Given the description of an element on the screen output the (x, y) to click on. 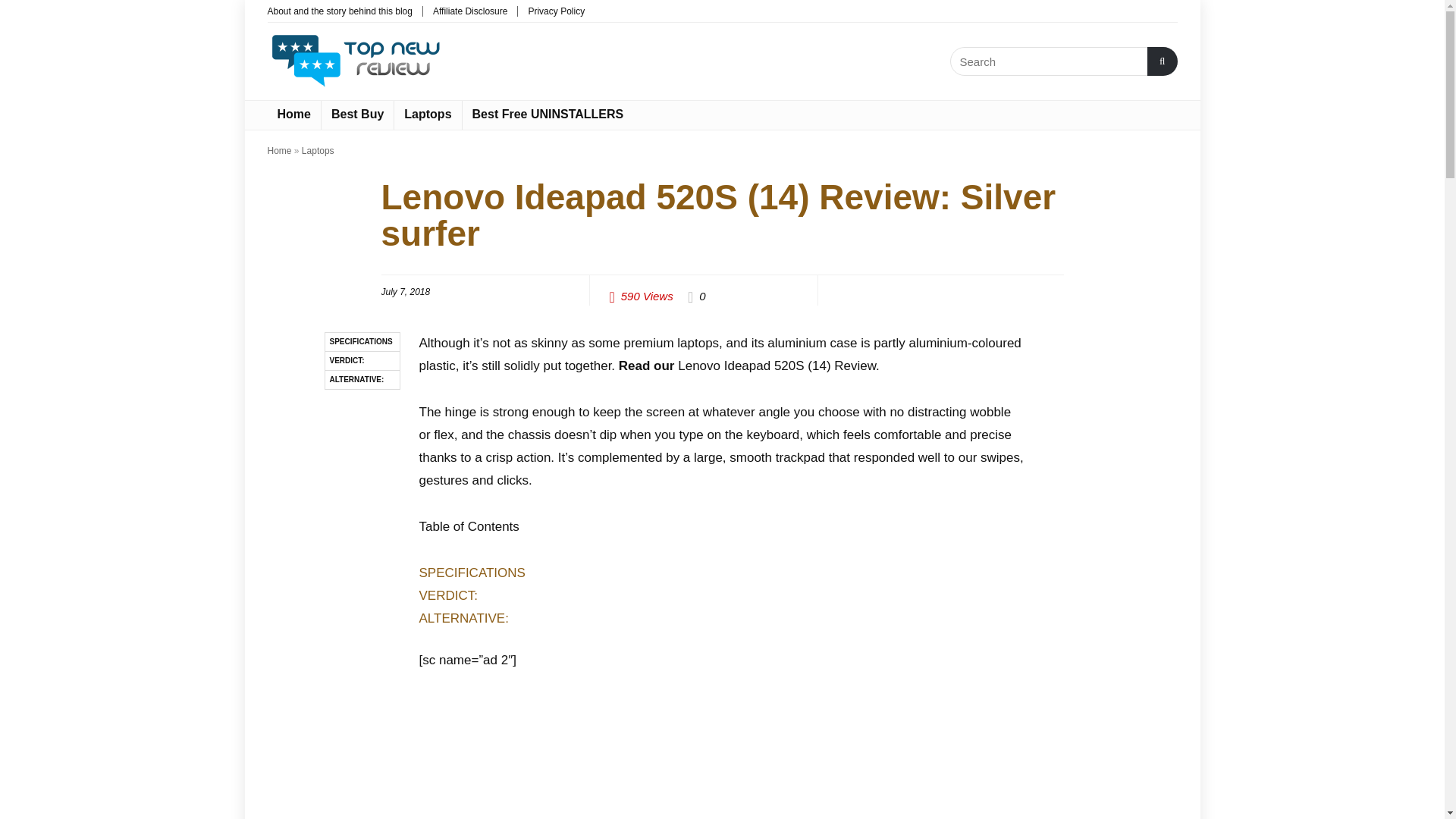
Laptops (317, 150)
VERDICT: (361, 361)
Best Free UNINSTALLERS (548, 114)
ALTERNATIVE: (361, 380)
VERDICT: (448, 595)
SPECIFICATIONS (361, 342)
Home (293, 114)
About and the story behind this blog (339, 10)
Affiliate Disclosure (469, 10)
Best Buy (357, 114)
